Given the description of an element on the screen output the (x, y) to click on. 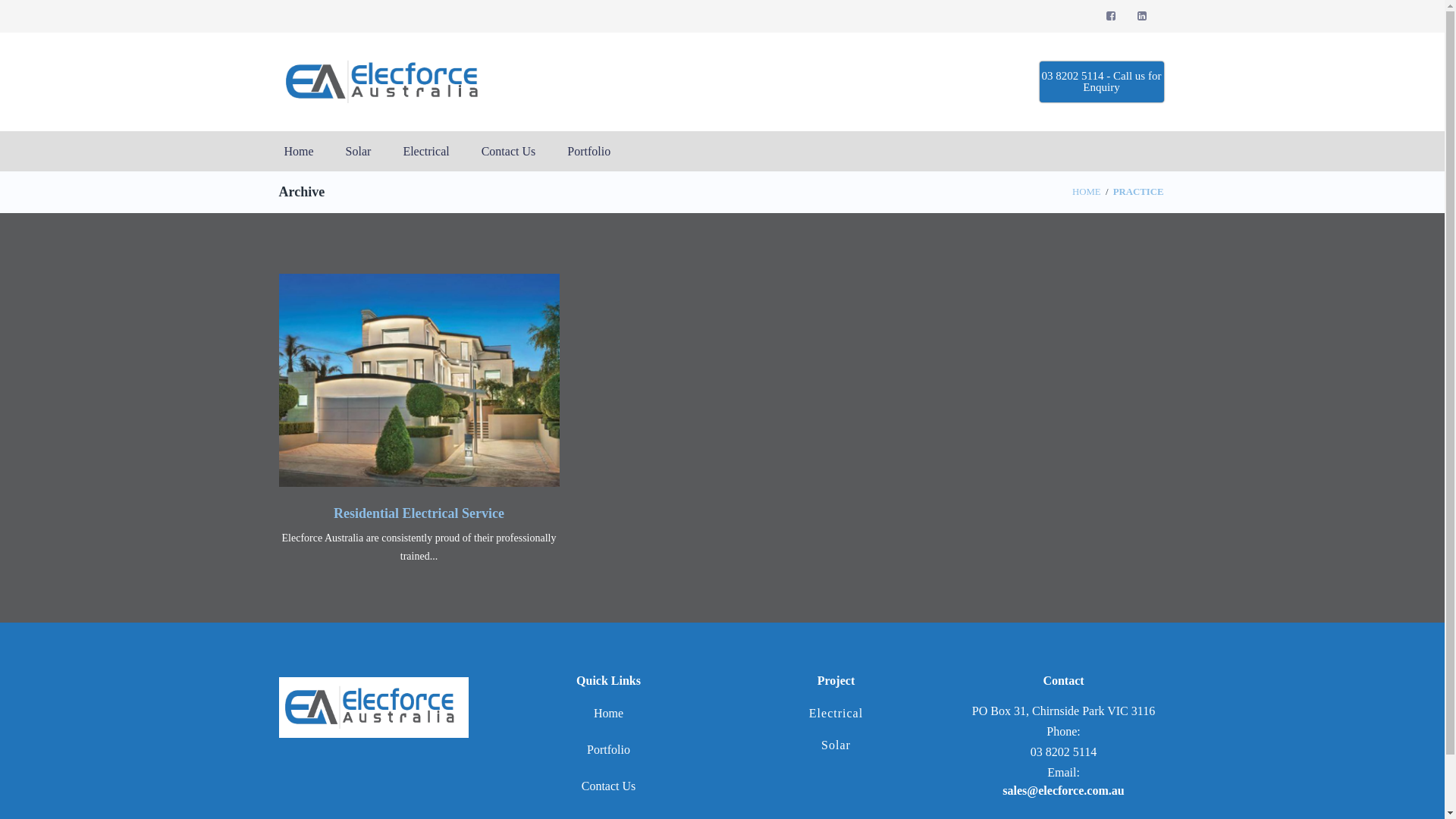
HOME Element type: text (1086, 191)
Electrical Element type: text (835, 712)
Solar Element type: text (835, 744)
Home Element type: text (298, 151)
Contact Us Element type: text (608, 785)
Solar Element type: text (358, 151)
Home Element type: text (608, 712)
  Element type: text (1143, 15)
  Element type: text (1111, 15)
Electrical Element type: text (425, 151)
Portfolio Element type: text (608, 749)
sales@elecforce.com.au Element type: text (1062, 790)
Portfolio Element type: text (588, 151)
03 8202 5114 - Call us for Enquiry Element type: text (1100, 81)
Contact Us Element type: text (508, 151)
